Given the description of an element on the screen output the (x, y) to click on. 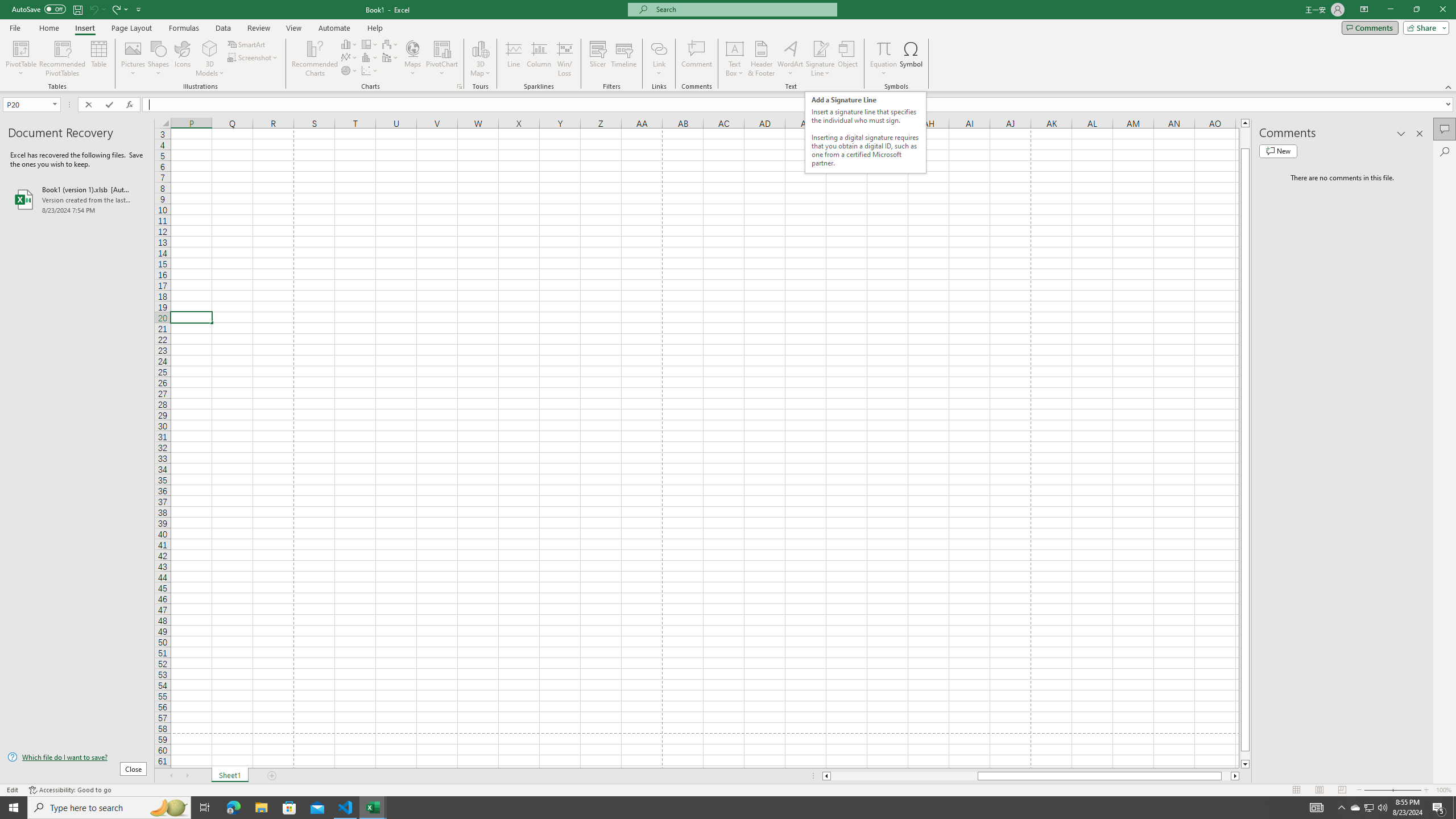
Insert Statistic Chart (369, 56)
Win/Loss (564, 58)
Signature Line (820, 58)
Screenshot (253, 56)
3D Map (480, 58)
PivotChart (442, 48)
Line (513, 58)
